Given the description of an element on the screen output the (x, y) to click on. 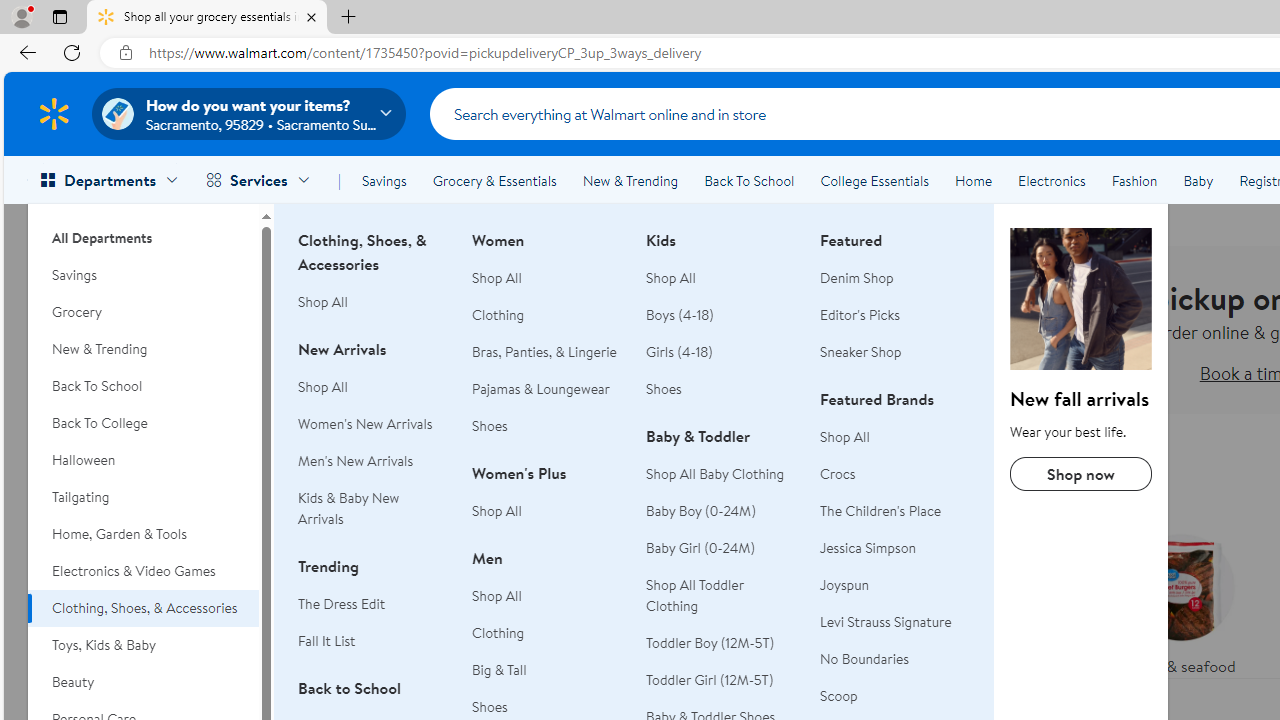
Fresh Food (792, 569)
Clothing, Shoes, & Accessories (143, 608)
Shop All (845, 436)
Fresh produce (1023, 599)
Baby Girl (0-24M) (701, 547)
Baby Boy (0-24M) (721, 511)
Pajamas & Loungewear (541, 388)
Back To School (749, 180)
Women's New Arrivals (373, 423)
Shop All Toddler Clothing (721, 596)
The Dress Edit (341, 604)
